Given the description of an element on the screen output the (x, y) to click on. 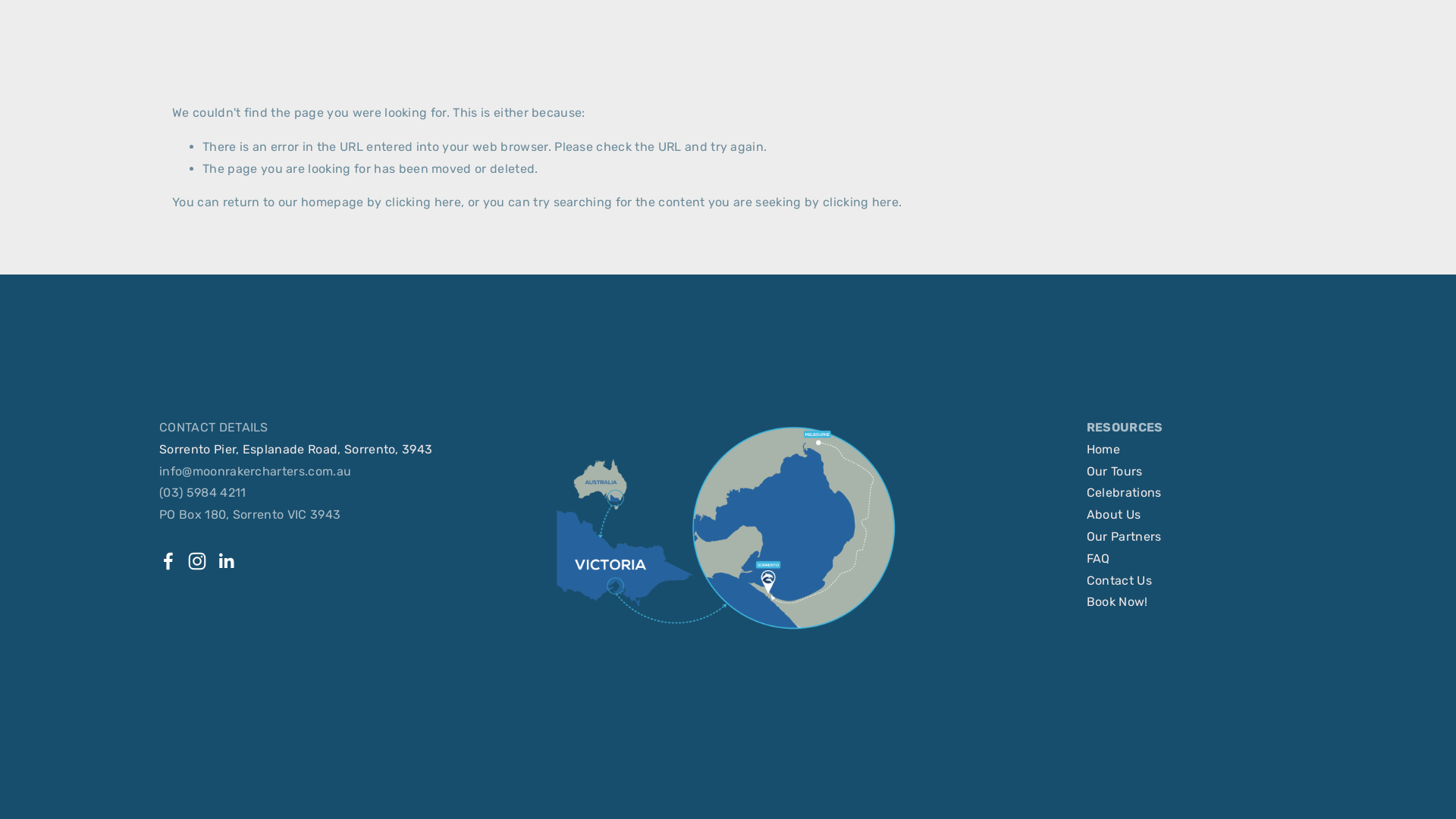
Sorrento Pier, Esplanade Road, Sorrento, 3943 Element type: text (295, 449)
Contact Us Element type: text (1118, 580)
Our Partners Element type: text (1123, 536)
About Us Element type: text (1113, 514)
Celebrations Element type: text (1123, 492)
Book Now! Element type: text (1117, 601)
clicking here Element type: text (860, 201)
FAQ Element type: text (1098, 558)
Home Element type: text (1103, 449)
Our Tours Element type: text (1114, 471)
clicking here Element type: text (423, 201)
